Given the description of an element on the screen output the (x, y) to click on. 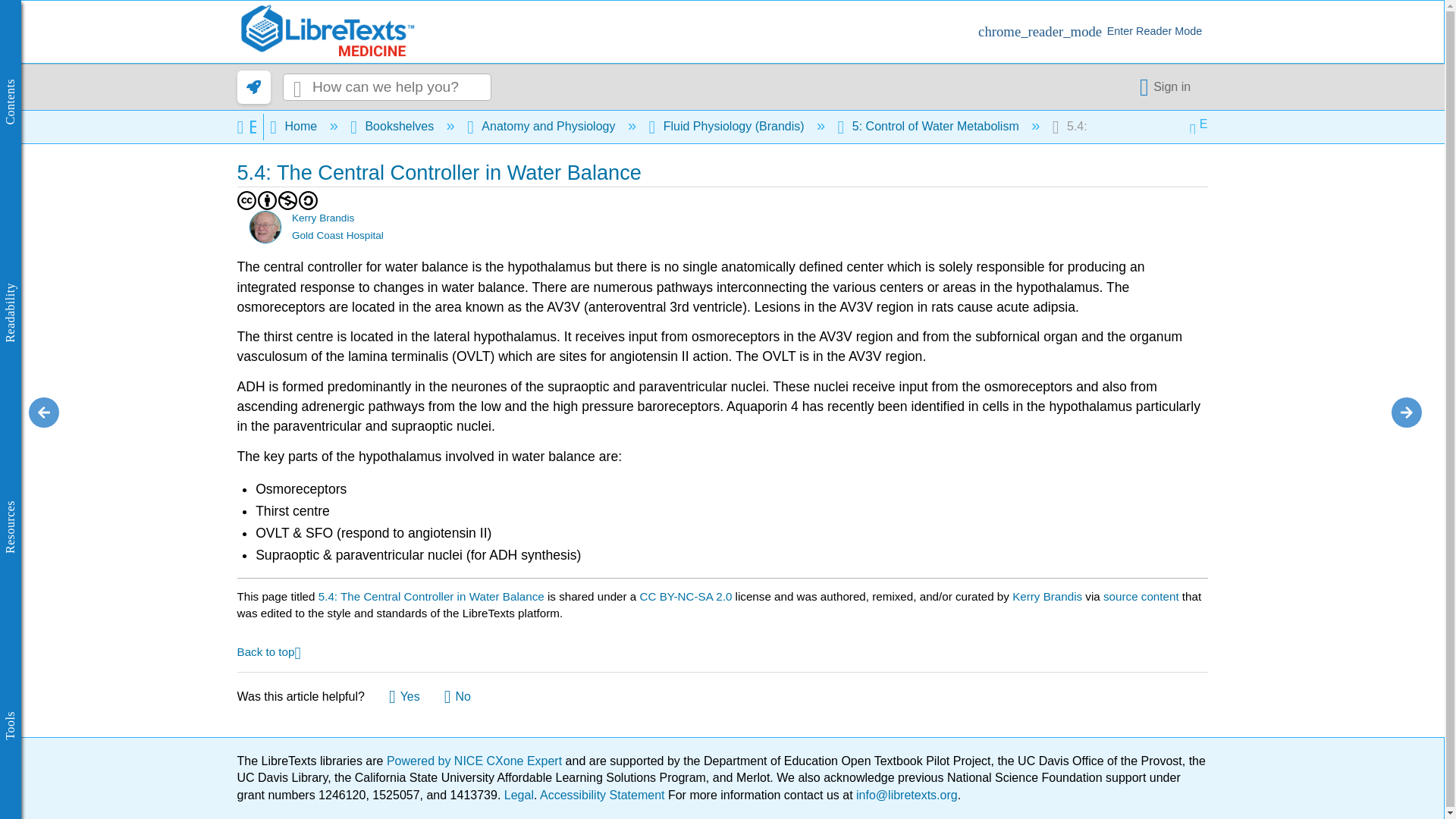
NC (288, 199)
Kerry Brandis (265, 226)
Single Sign-On (1167, 86)
BY (267, 199)
CC (246, 199)
SA (307, 199)
Jump back to top of this article (267, 651)
